Given the description of an element on the screen output the (x, y) to click on. 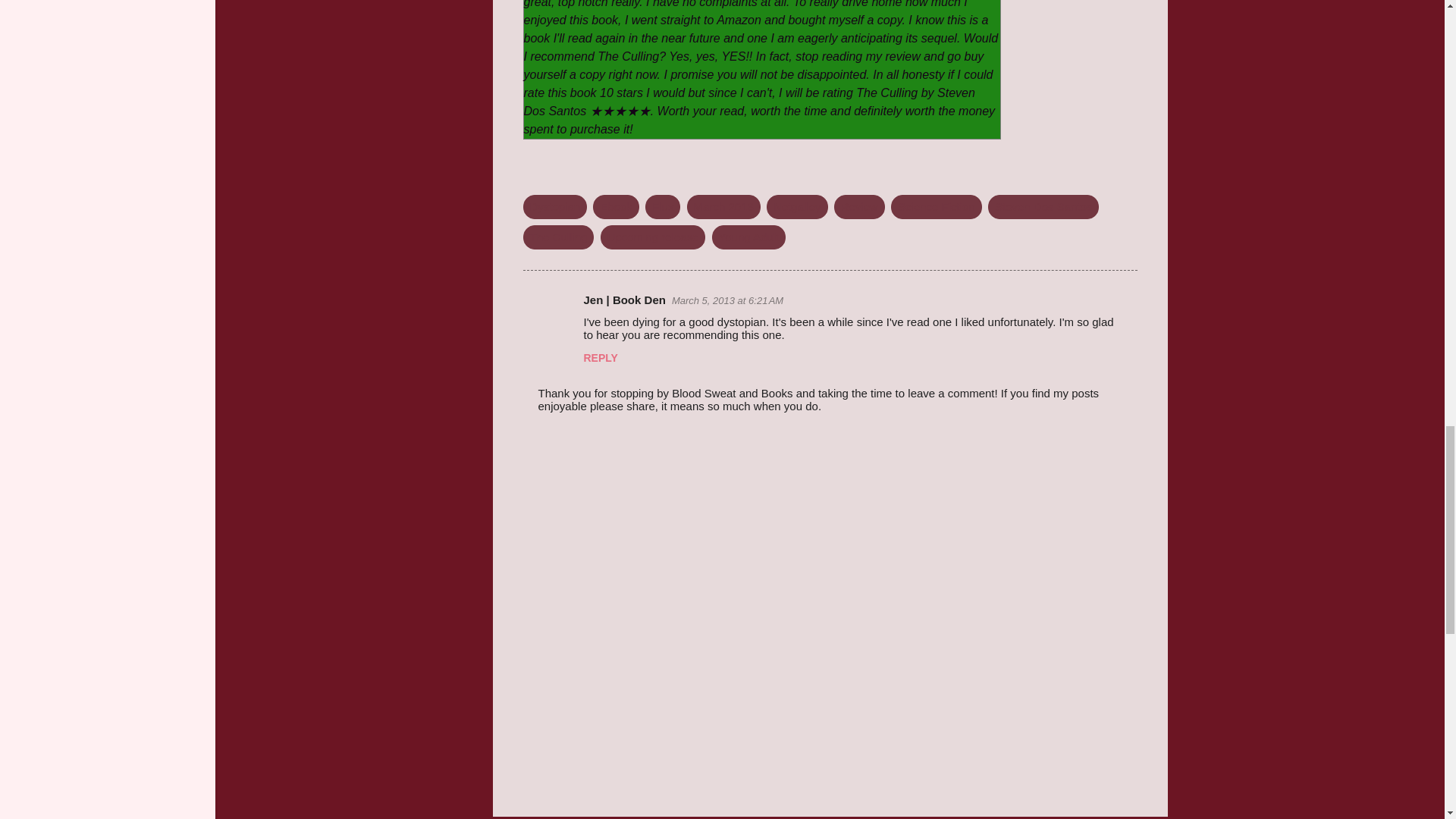
Ebook (615, 206)
The Culling (558, 236)
Flux (662, 206)
REPLY (600, 357)
Dystopian (555, 206)
Young Adult (748, 236)
March 2013 (723, 206)
Upcoming release (652, 236)
Steven Dos Santos (1043, 206)
Netgalley (797, 206)
Review (859, 206)
Science Fiction (936, 206)
